Given the description of an element on the screen output the (x, y) to click on. 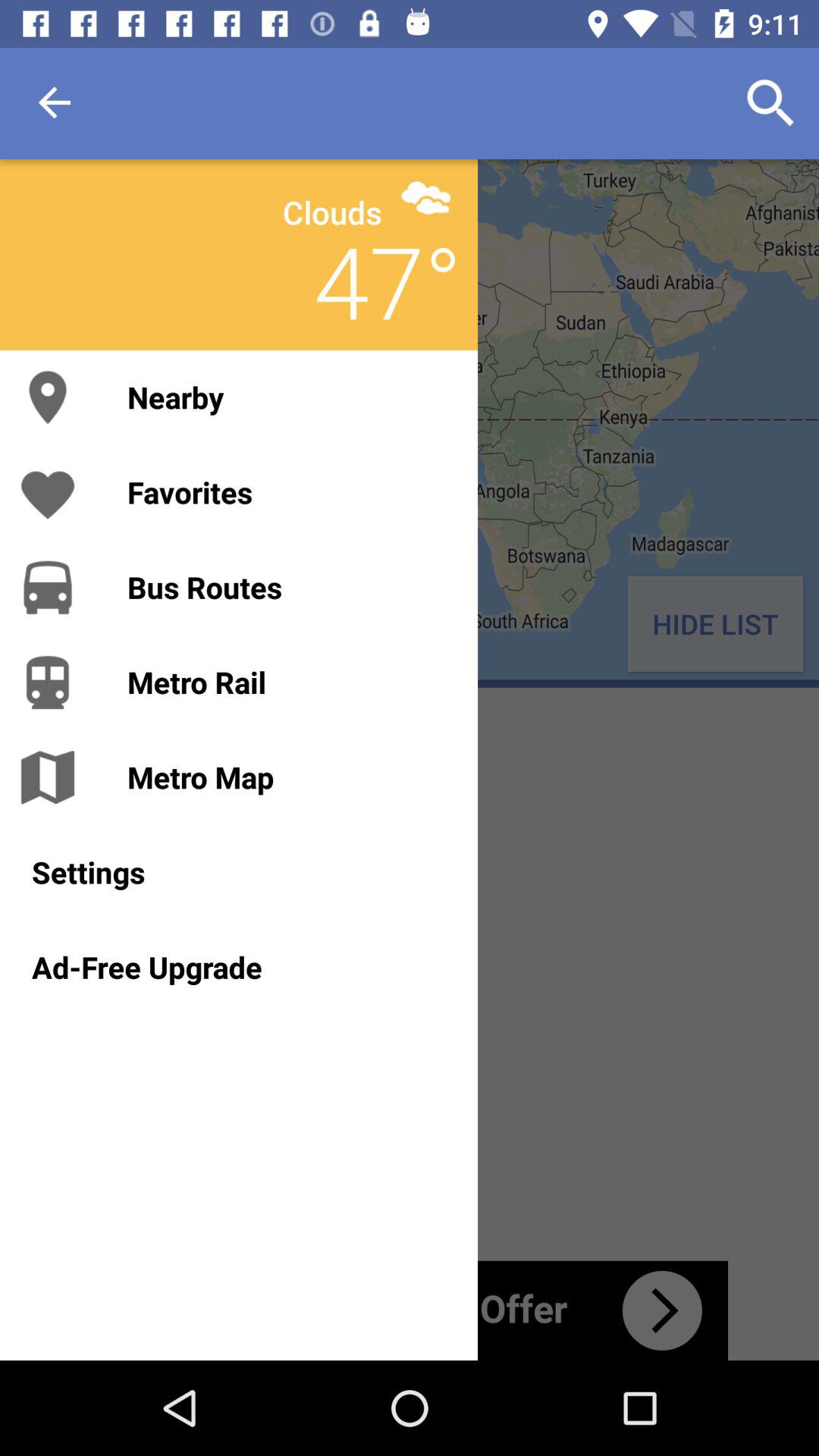
scroll to the ad-free upgrade item (238, 966)
